Given the description of an element on the screen output the (x, y) to click on. 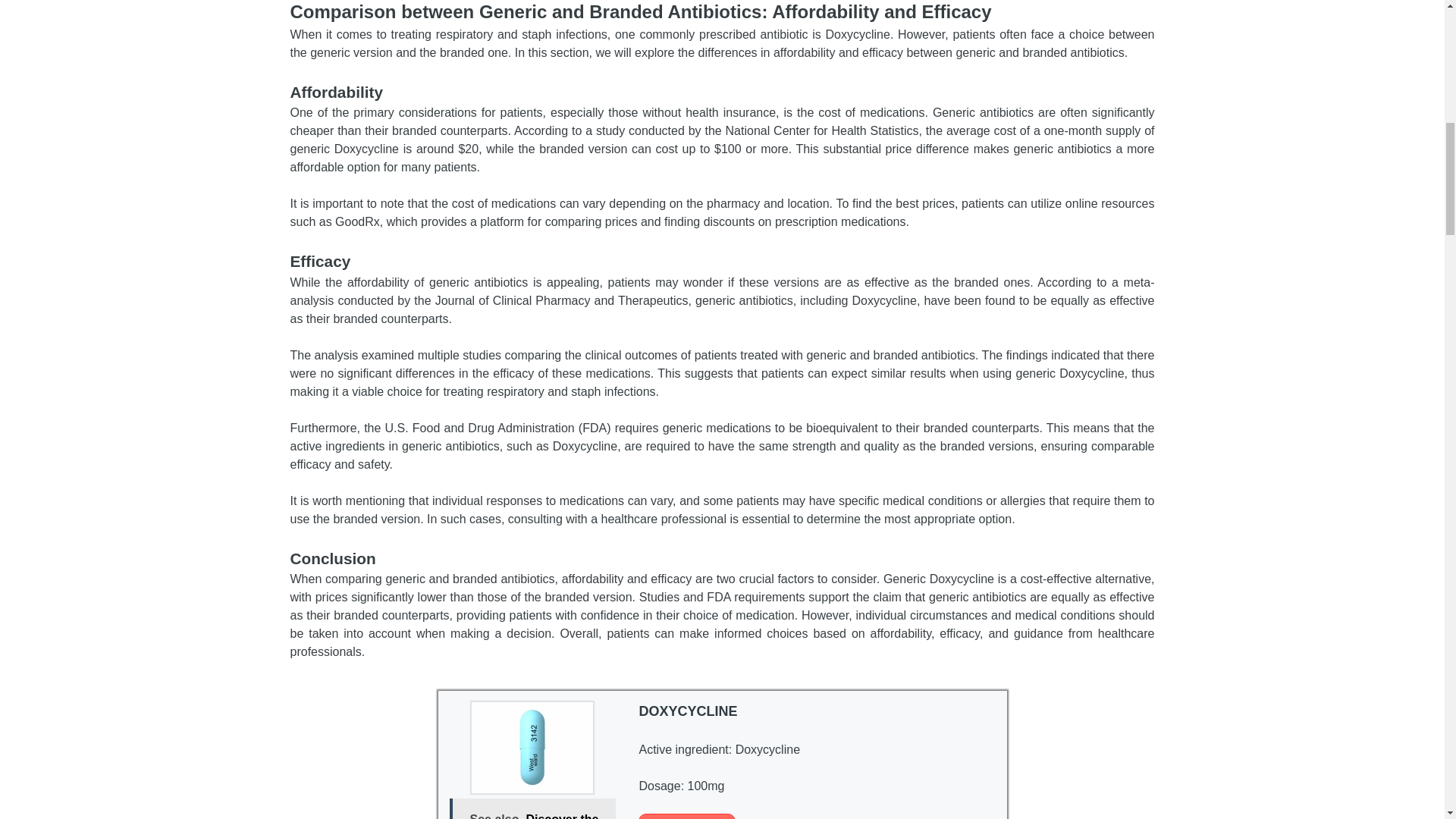
Order Now (687, 816)
